Given the description of an element on the screen output the (x, y) to click on. 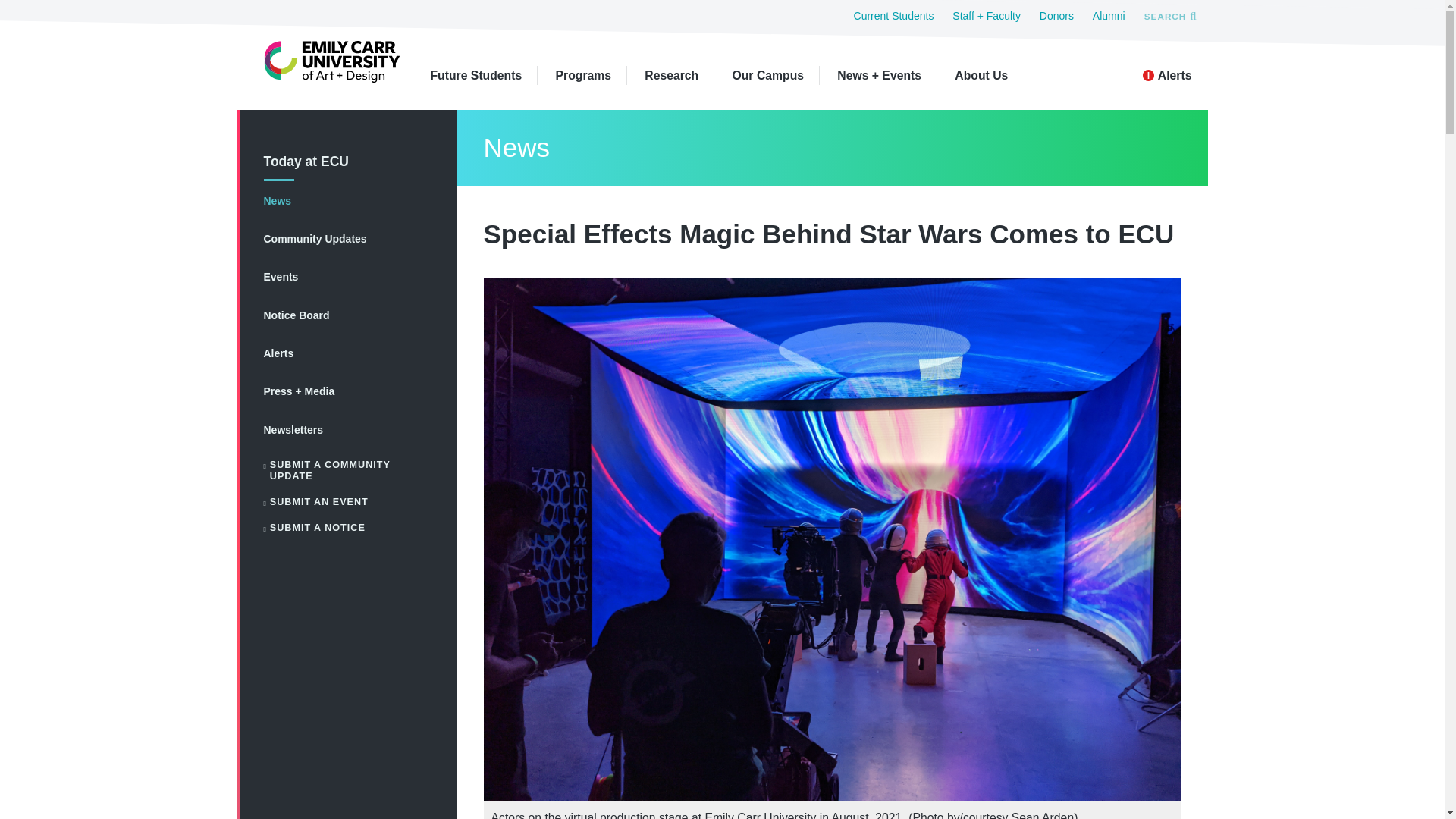
Current Students (893, 15)
SEARCH (1169, 15)
Alumni (1109, 15)
Donors (1056, 15)
